Given the description of an element on the screen output the (x, y) to click on. 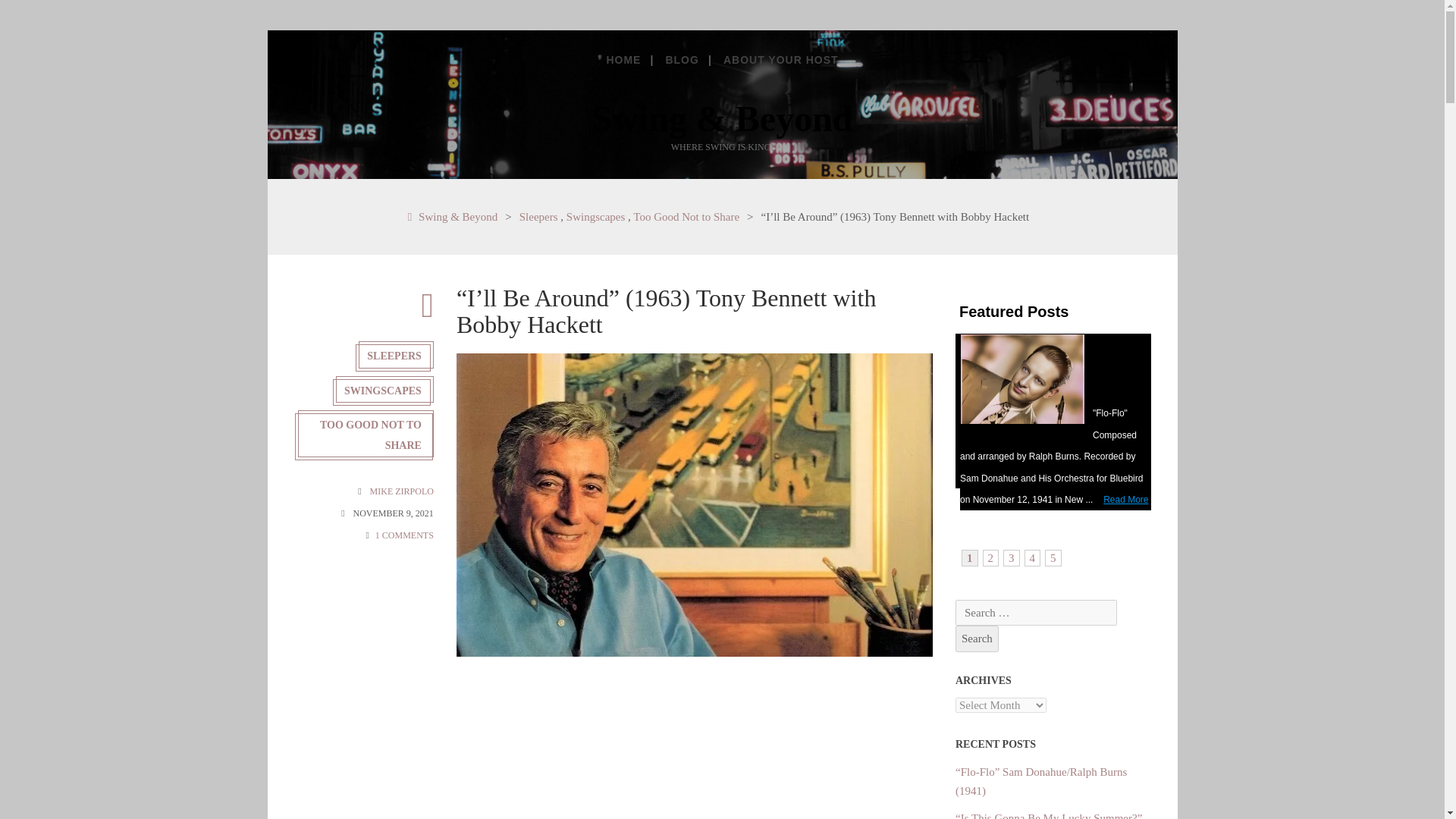
HOME (623, 59)
SWINGSCAPES (384, 389)
Too Good Not to Share (686, 216)
MIKE ZIRPOLO (401, 491)
ABOUT YOUR HOST (780, 59)
TOO GOOD NOT TO SHARE (364, 433)
BLOG (681, 59)
Search (976, 638)
Search (976, 638)
Swingscapes (596, 216)
SLEEPERS (395, 354)
1 COMMENTS (404, 534)
1 COMMENTS (404, 534)
Sleepers (538, 216)
